Given the description of an element on the screen output the (x, y) to click on. 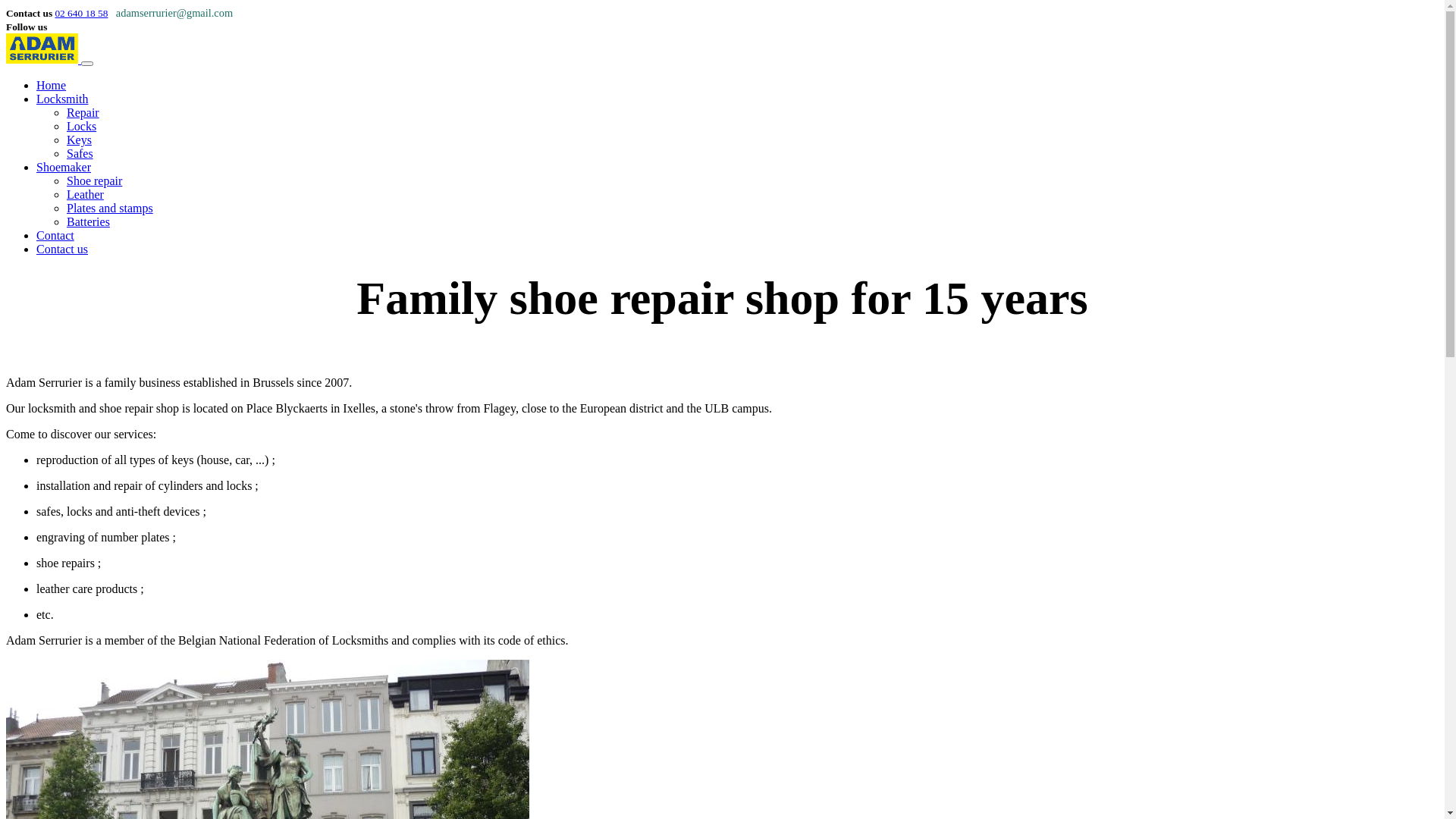
Leather Element type: text (84, 194)
Safes Element type: text (79, 153)
Repair Element type: text (82, 112)
Contact Element type: text (55, 235)
Shoe repair Element type: text (94, 180)
Locksmith Element type: text (61, 98)
Locks Element type: text (81, 125)
Batteries Element type: text (87, 221)
Keys Element type: text (78, 139)
Contact us Element type: text (61, 248)
02 640 18 58 Element type: text (80, 12)
Adam Serrurier Bruxelles Element type: hover (42, 59)
Home Element type: text (50, 84)
Plates and stamps Element type: text (109, 207)
Shoemaker Element type: text (63, 166)
